Given the description of an element on the screen output the (x, y) to click on. 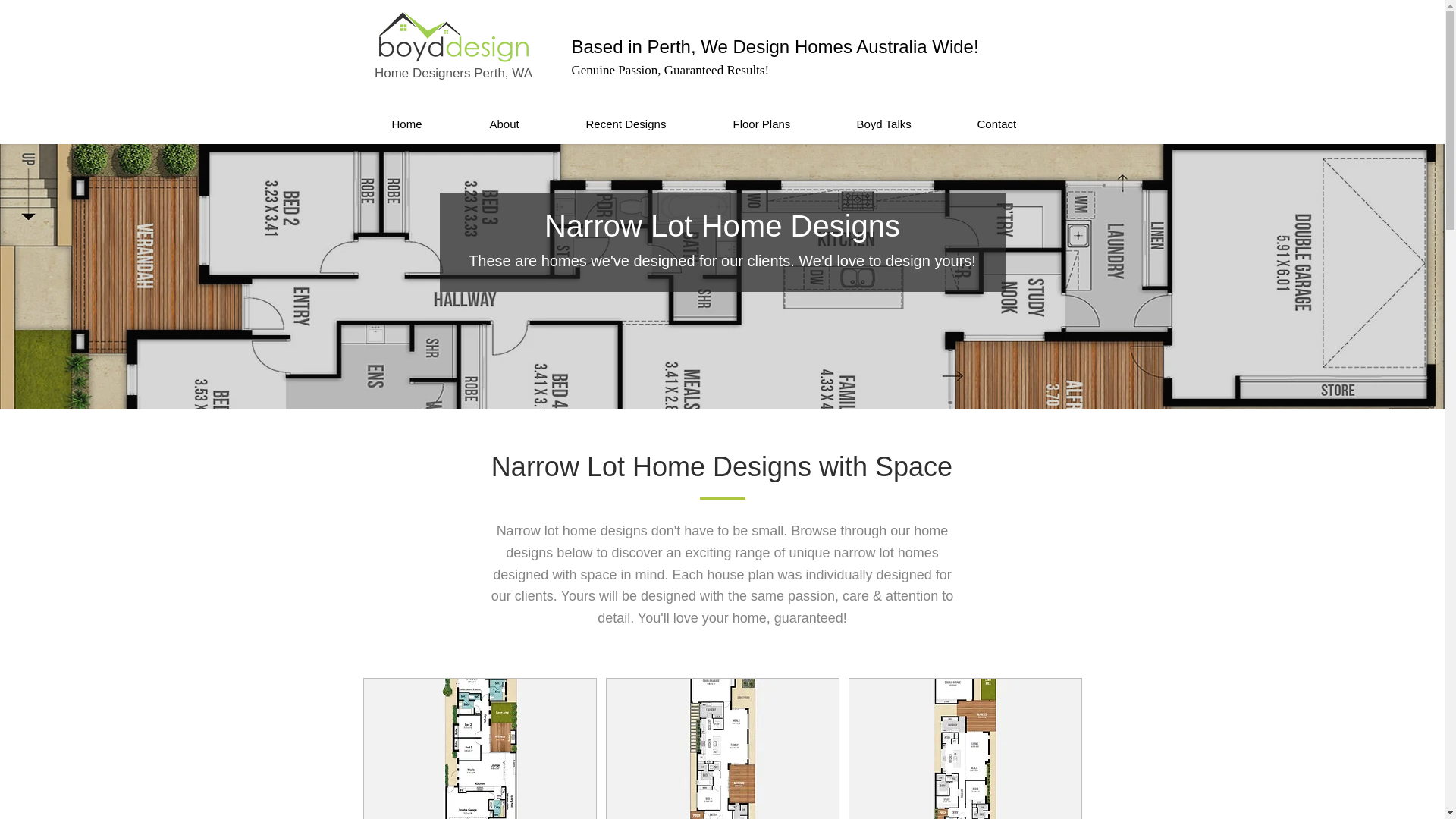
Home (428, 124)
Narrow-Lot Home Design - The Newyorker (479, 748)
Home Designers Perth, Boyd Design (453, 37)
Contact (1016, 124)
Narrow-Lot Home Design - The Freedom (964, 748)
Narrow-Lot House Plan - The Rhapsody (722, 748)
Floor Plans (782, 124)
Home Designers Perth, WA (453, 73)
